Given the description of an element on the screen output the (x, y) to click on. 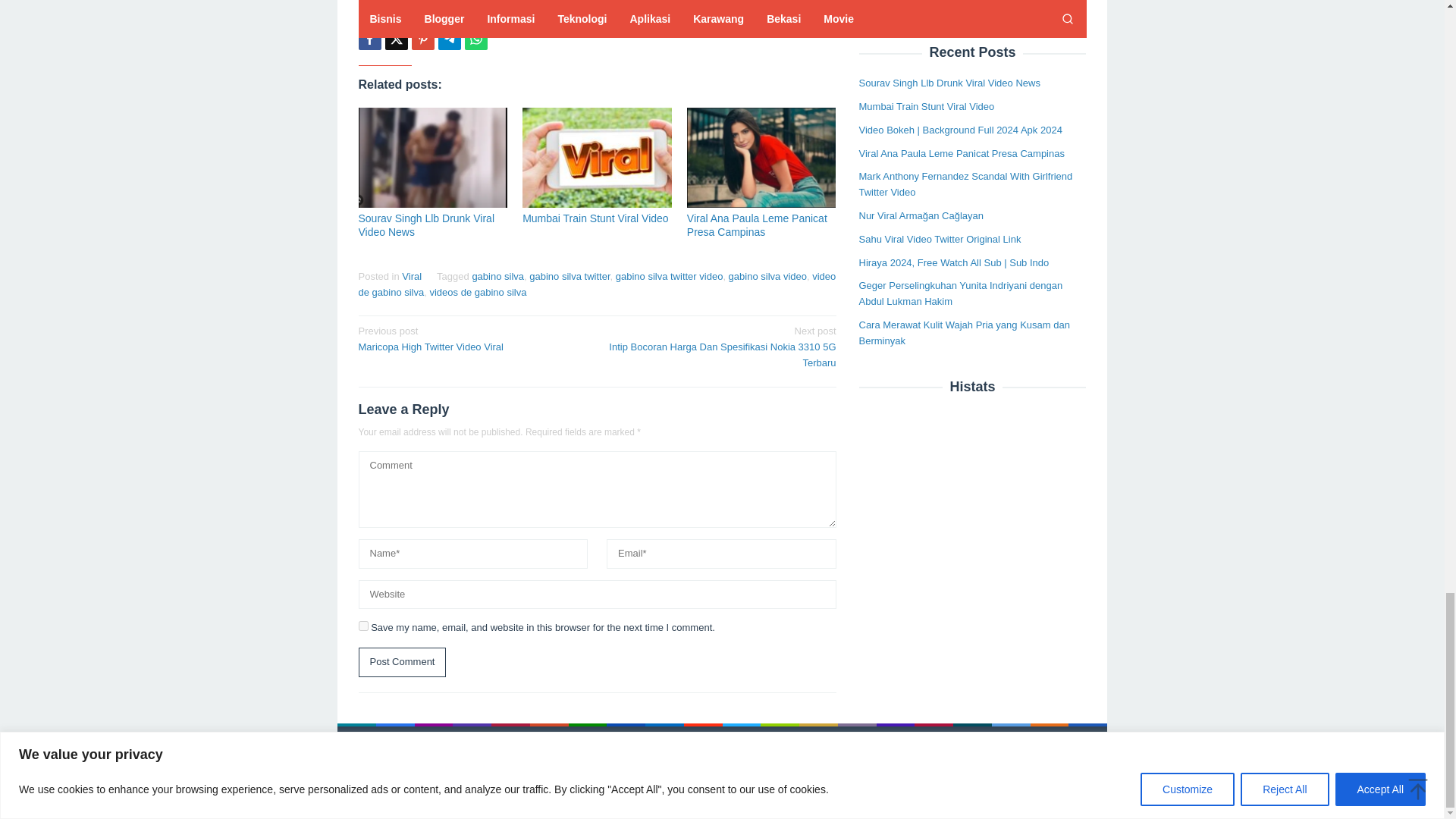
yes (363, 625)
Tweet this (396, 38)
Post Comment (401, 662)
Share this (369, 38)
